Given the description of an element on the screen output the (x, y) to click on. 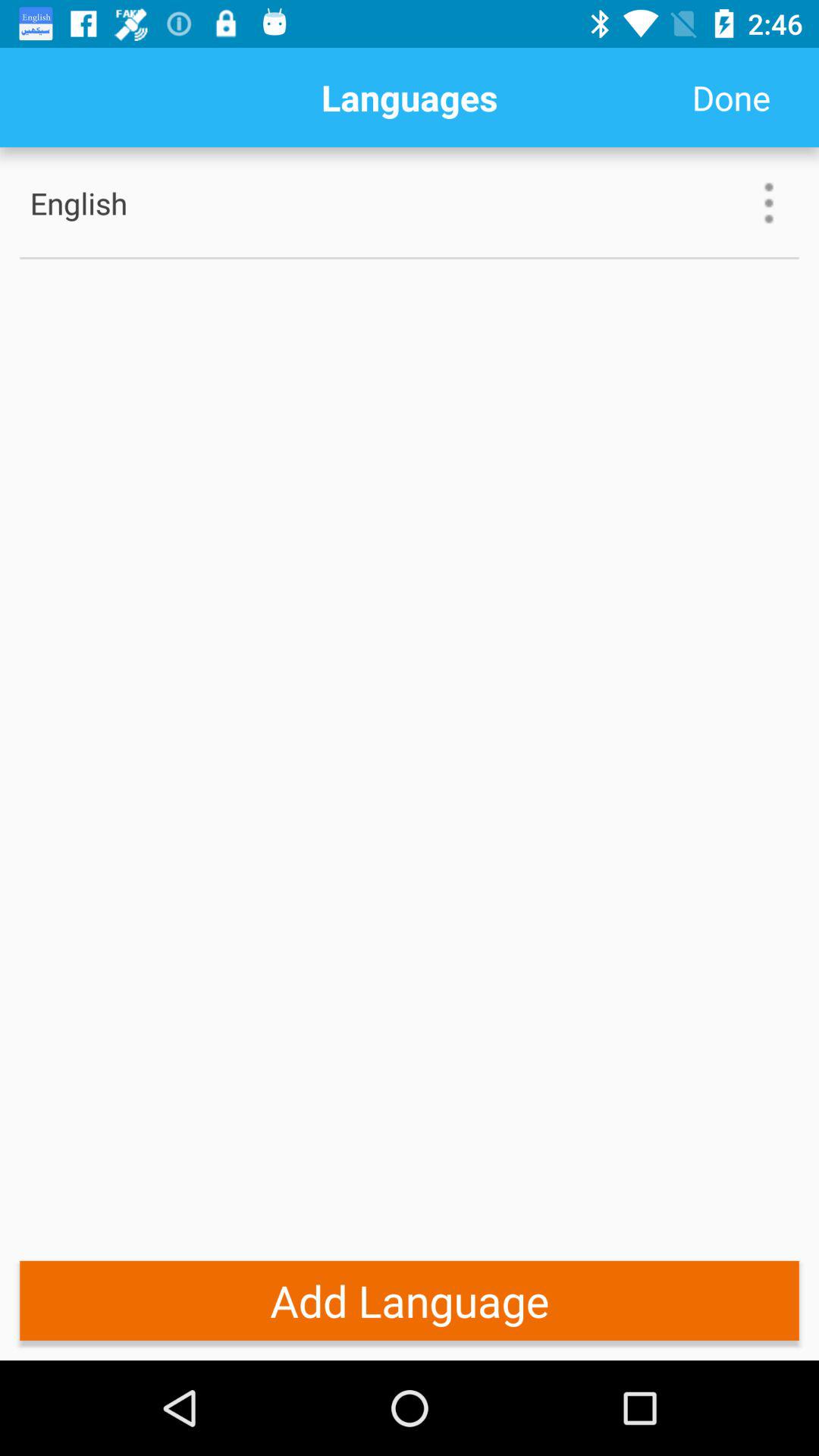
launch the icon to the right of english item (768, 202)
